Given the description of an element on the screen output the (x, y) to click on. 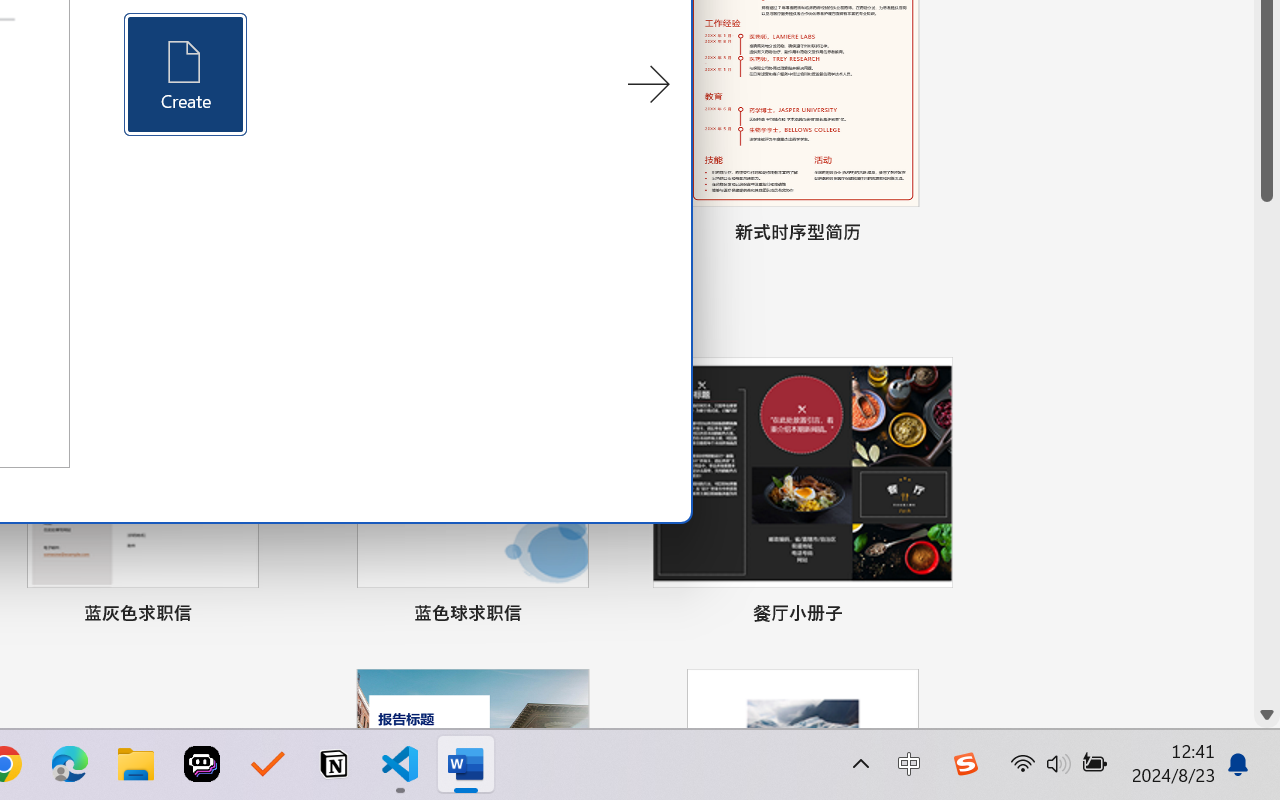
Microsoft Edge (69, 764)
Line down (1267, 715)
Next Template (648, 85)
